Given the description of an element on the screen output the (x, y) to click on. 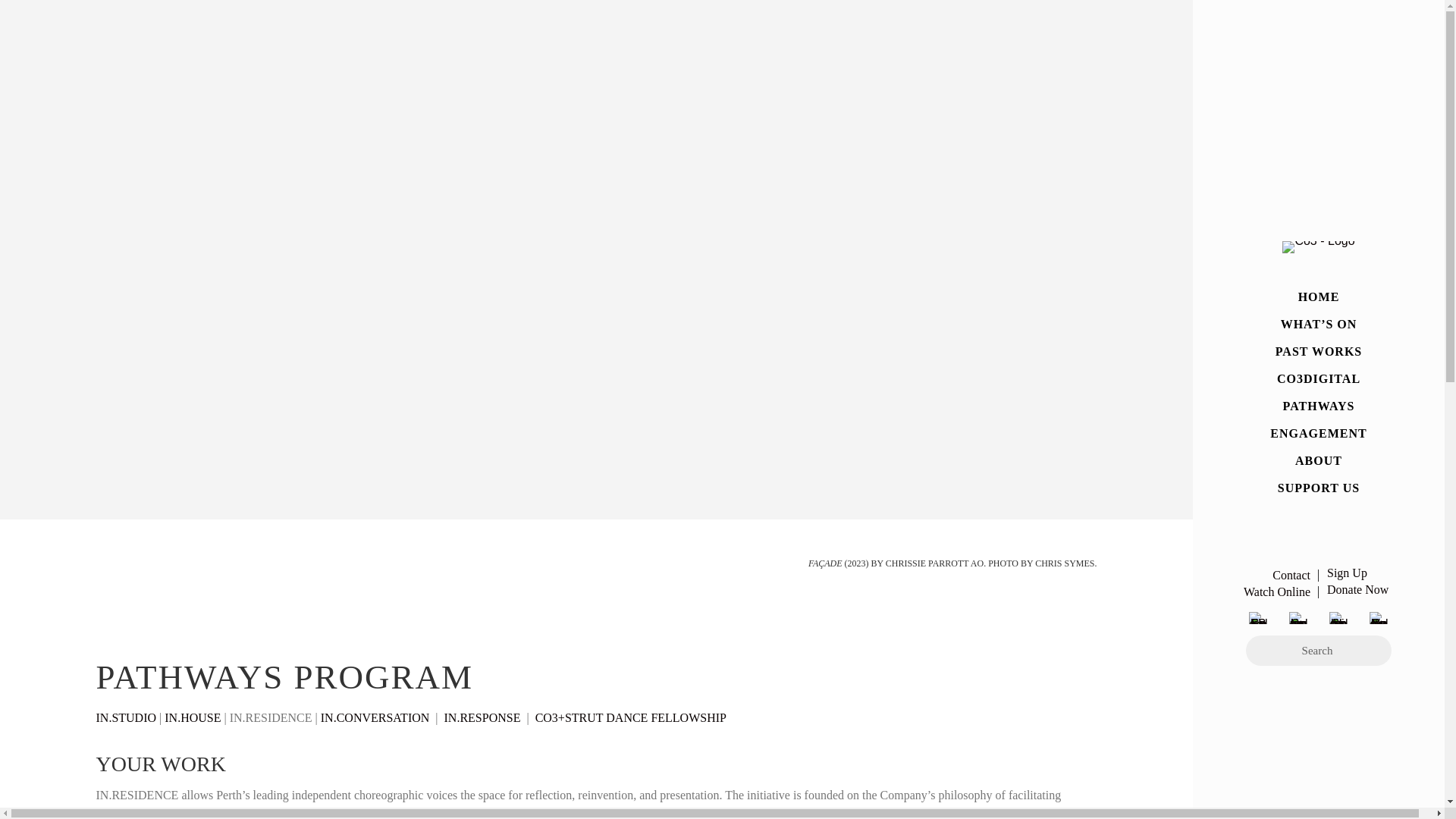
Social Icons - Instagram (1297, 617)
HOME (1318, 297)
PAST WORKS (1318, 351)
CO3DIGITAL (1318, 379)
PATHWAYS (1318, 406)
Social Icons - FB (1258, 617)
Search (1318, 650)
Co3 - Logo (1318, 246)
Social Icons - Vimeo (1338, 617)
Social Icons - LinkedIn (1379, 617)
